Given the description of an element on the screen output the (x, y) to click on. 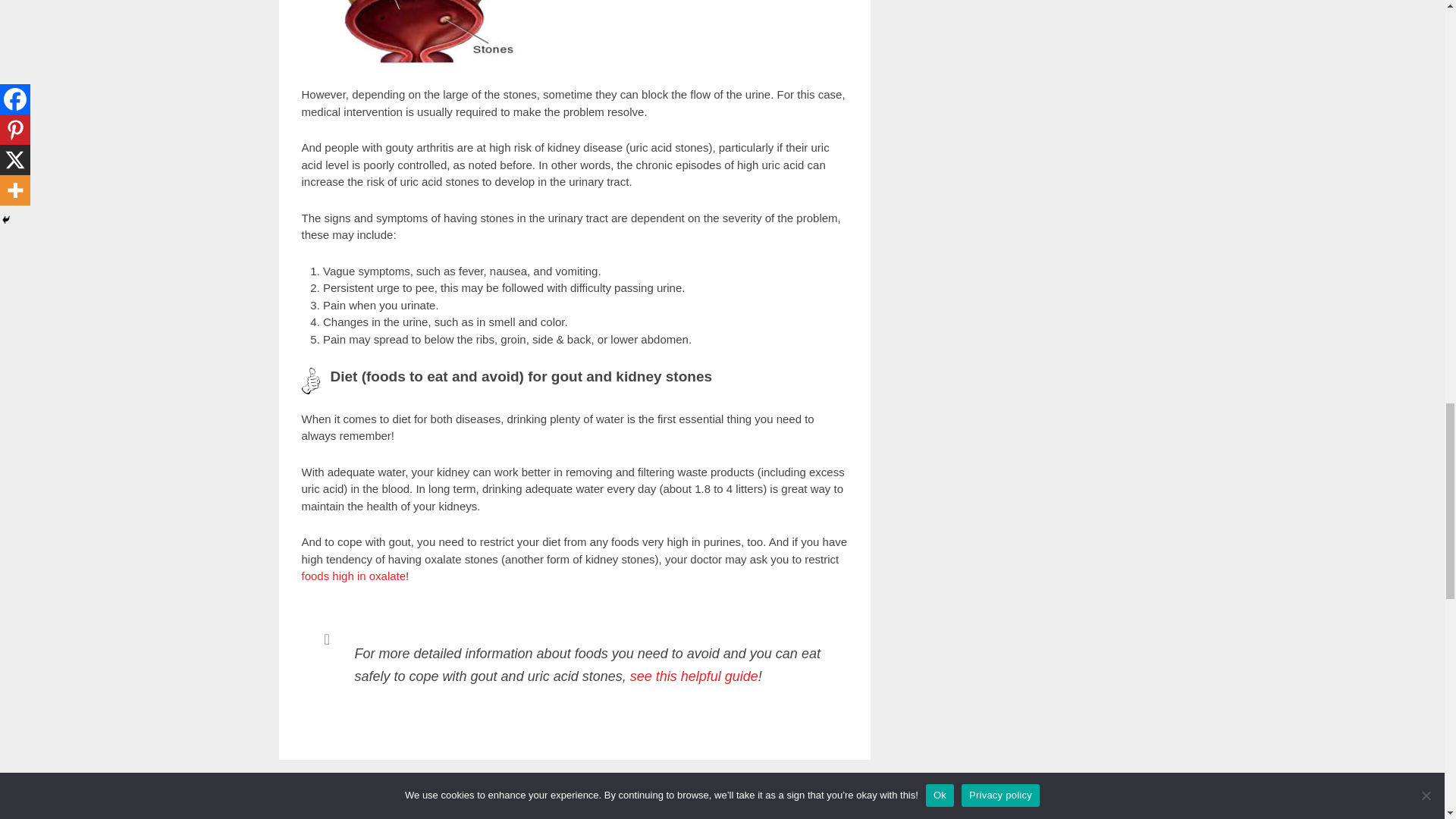
see this helpful guide (694, 676)
foods high in oxalate (353, 575)
